Given the description of an element on the screen output the (x, y) to click on. 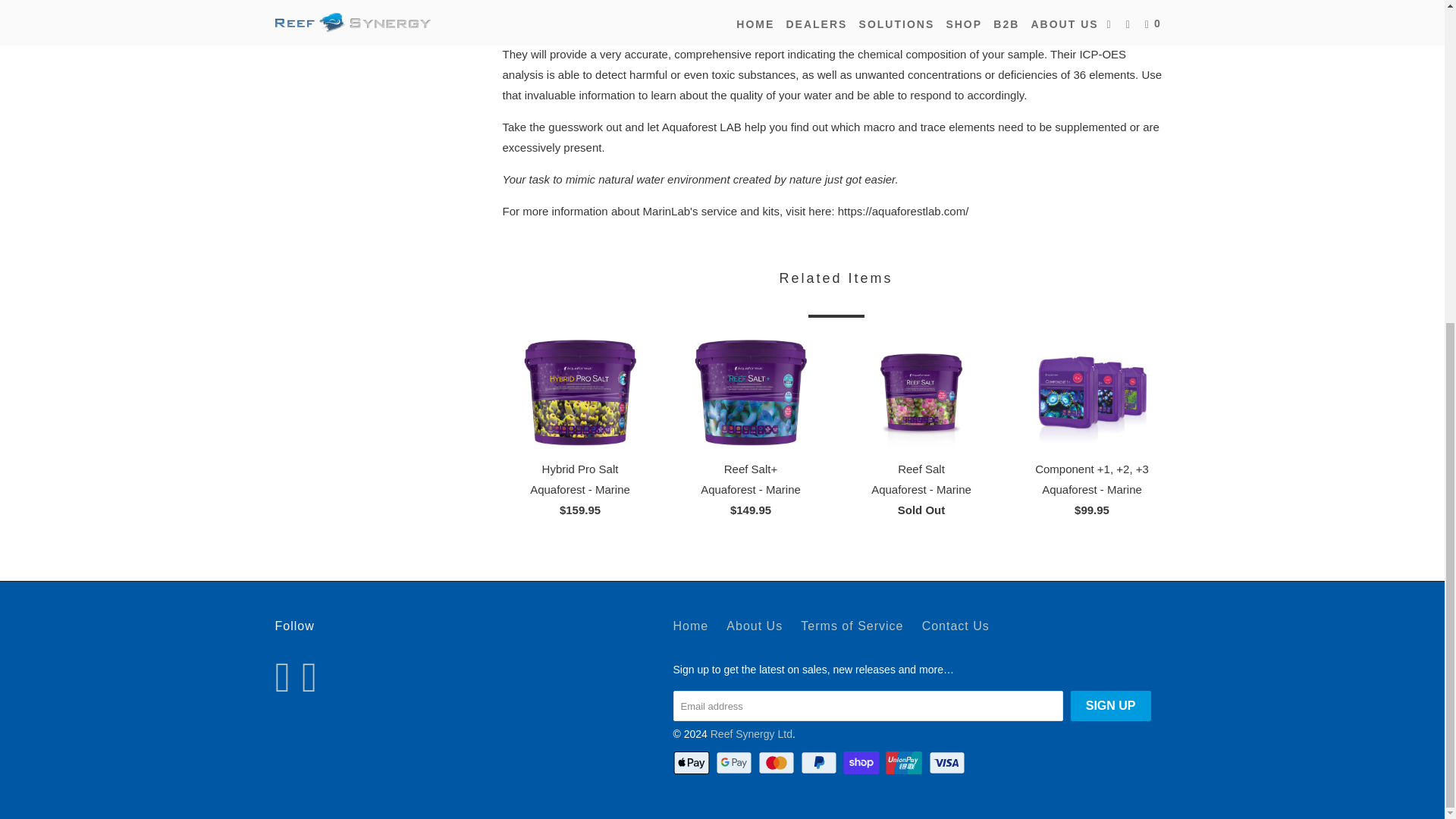
Google Pay (735, 762)
Sign Up (1110, 706)
Union Pay (904, 762)
Apple Pay (692, 762)
Mastercard (777, 762)
Visa (948, 762)
PayPal (820, 762)
Shop Pay (862, 762)
